Given the description of an element on the screen output the (x, y) to click on. 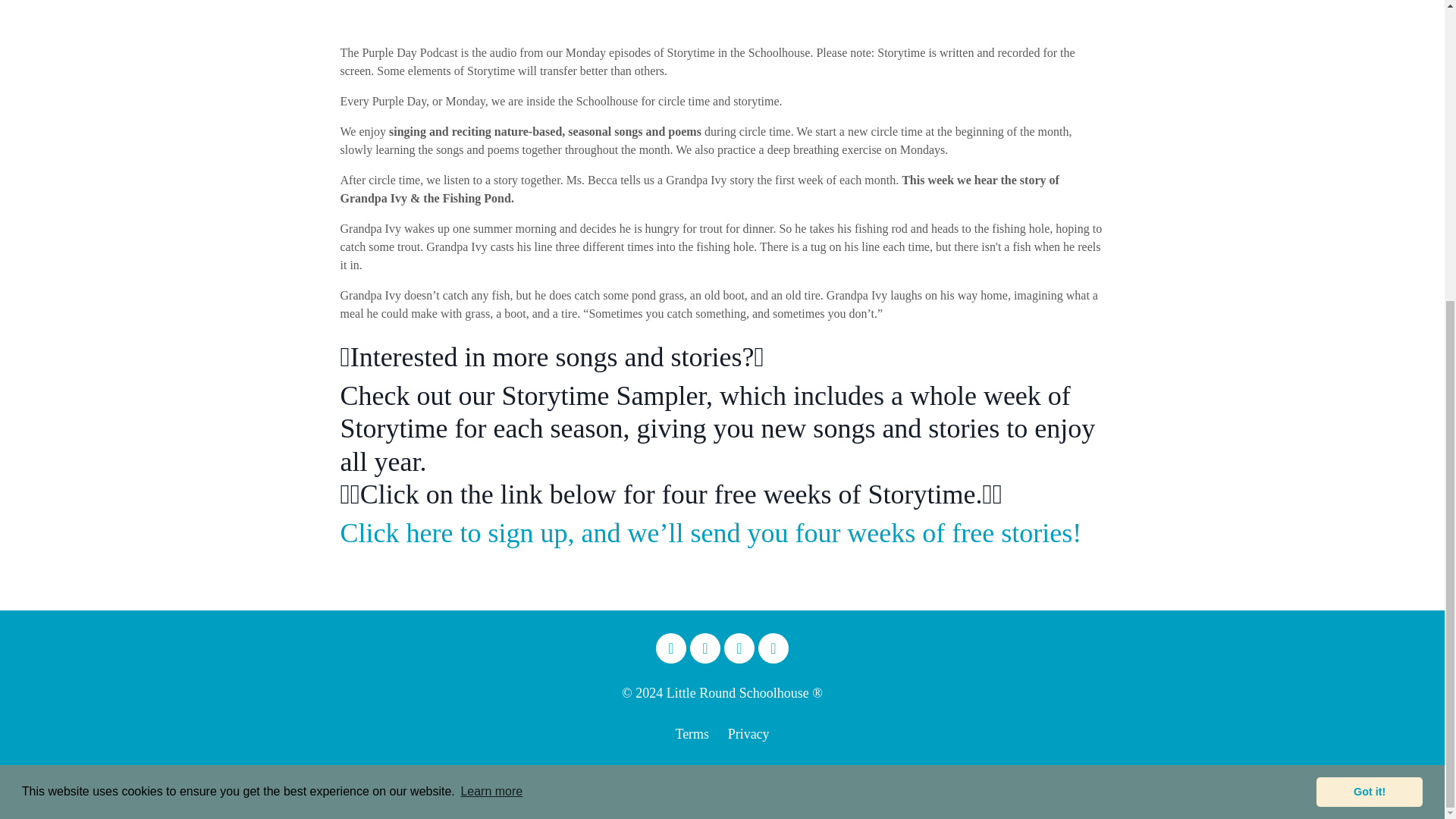
Privacy (749, 734)
Got it! (1369, 322)
Terms (692, 734)
Powered by Kajabi (1158, 779)
Learn more (491, 323)
